Given the description of an element on the screen output the (x, y) to click on. 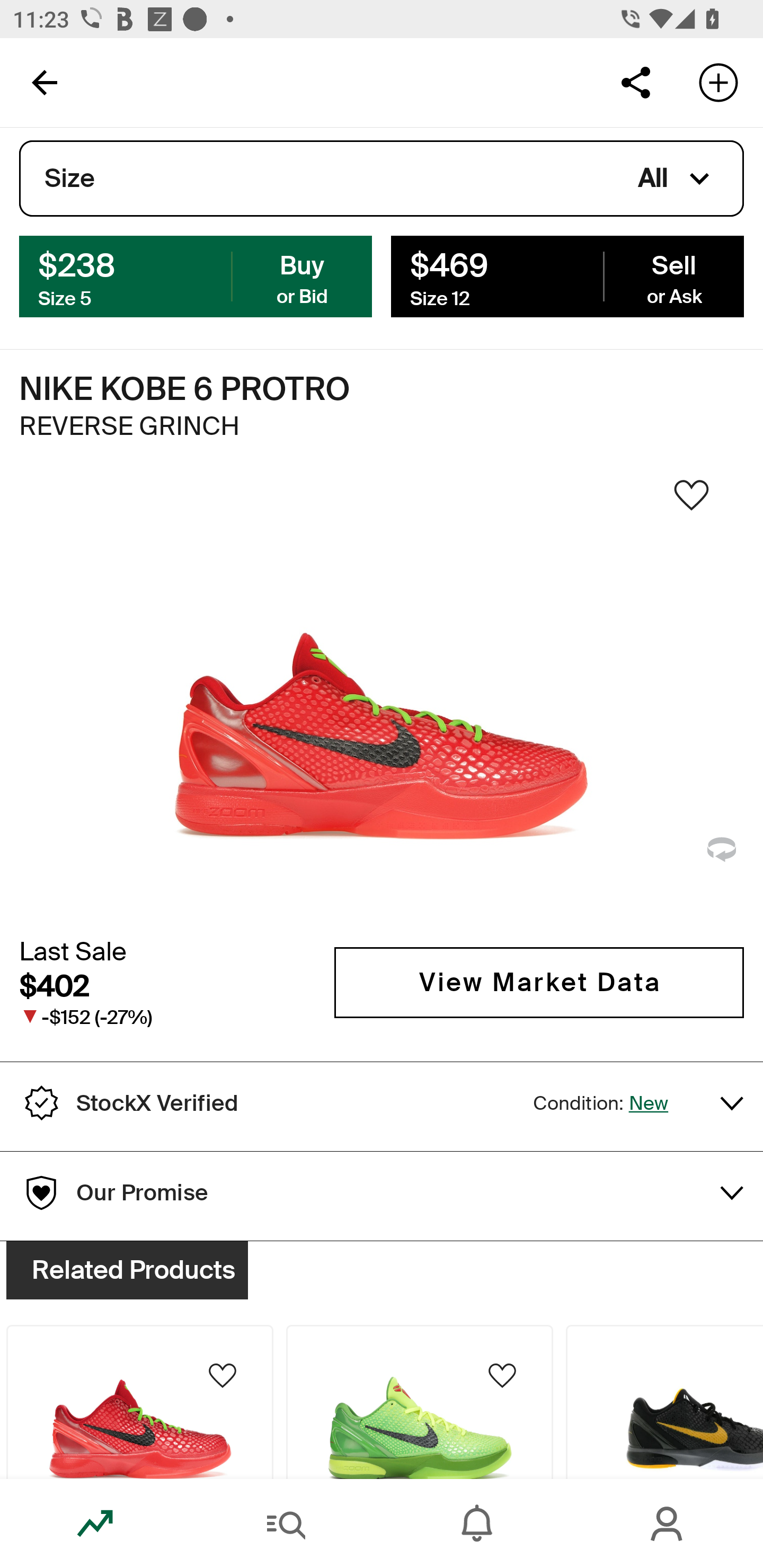
NikeBasketballSprint_Followup_Primary_Mobile.jpg (381, 322)
Share (635, 81)
Add (718, 81)
Size All (381, 178)
$238 Buy Size 5 or Bid (195, 275)
$469 Sell Size 12 or Ask (566, 275)
View Market Data (538, 982)
Product Image (139, 1401)
Product Image (419, 1401)
Product Image (664, 1401)
Search (285, 1523)
Inbox (476, 1523)
Account (667, 1523)
